Given the description of an element on the screen output the (x, y) to click on. 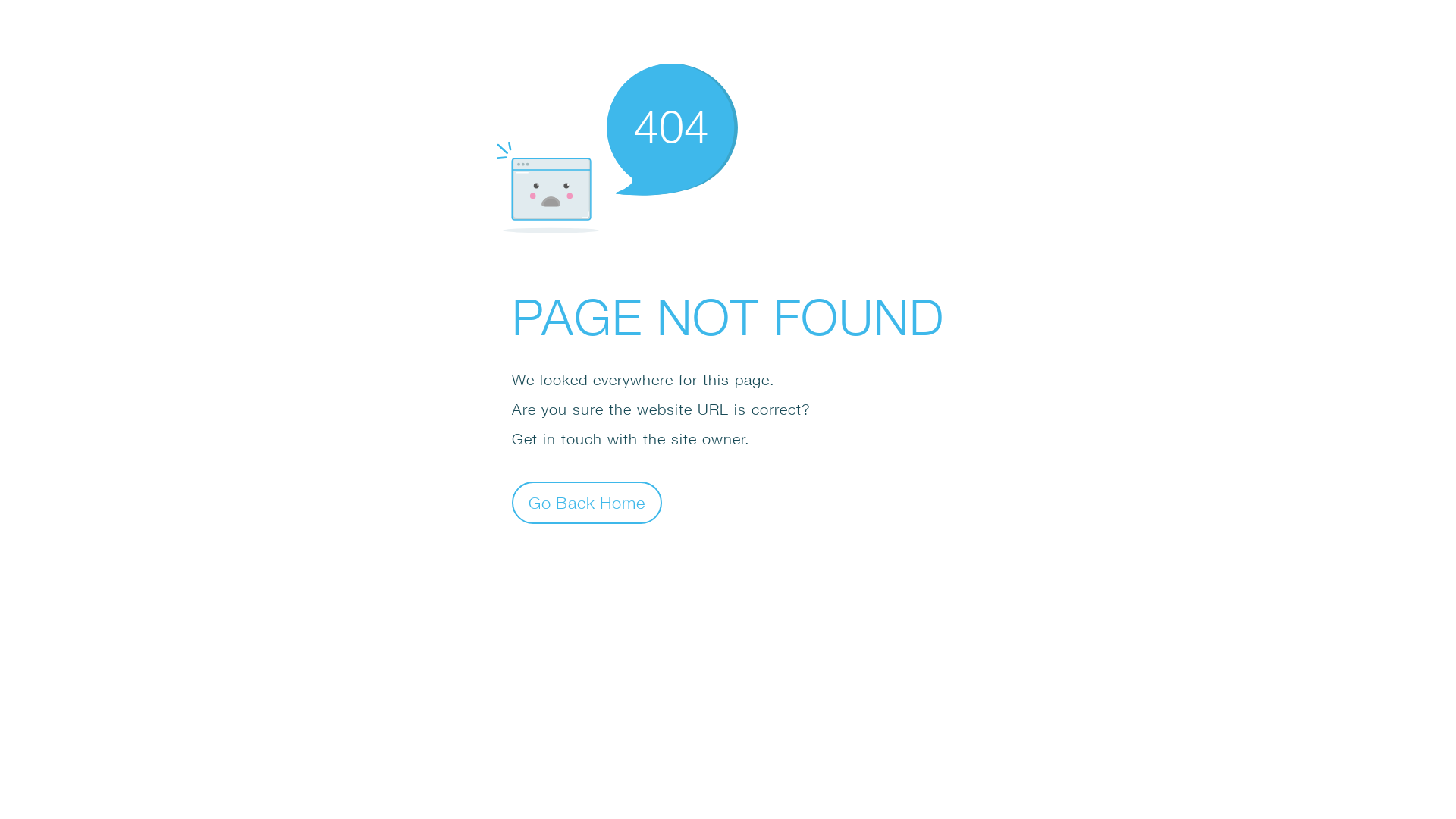
Go Back Home Element type: text (586, 502)
